Given the description of an element on the screen output the (x, y) to click on. 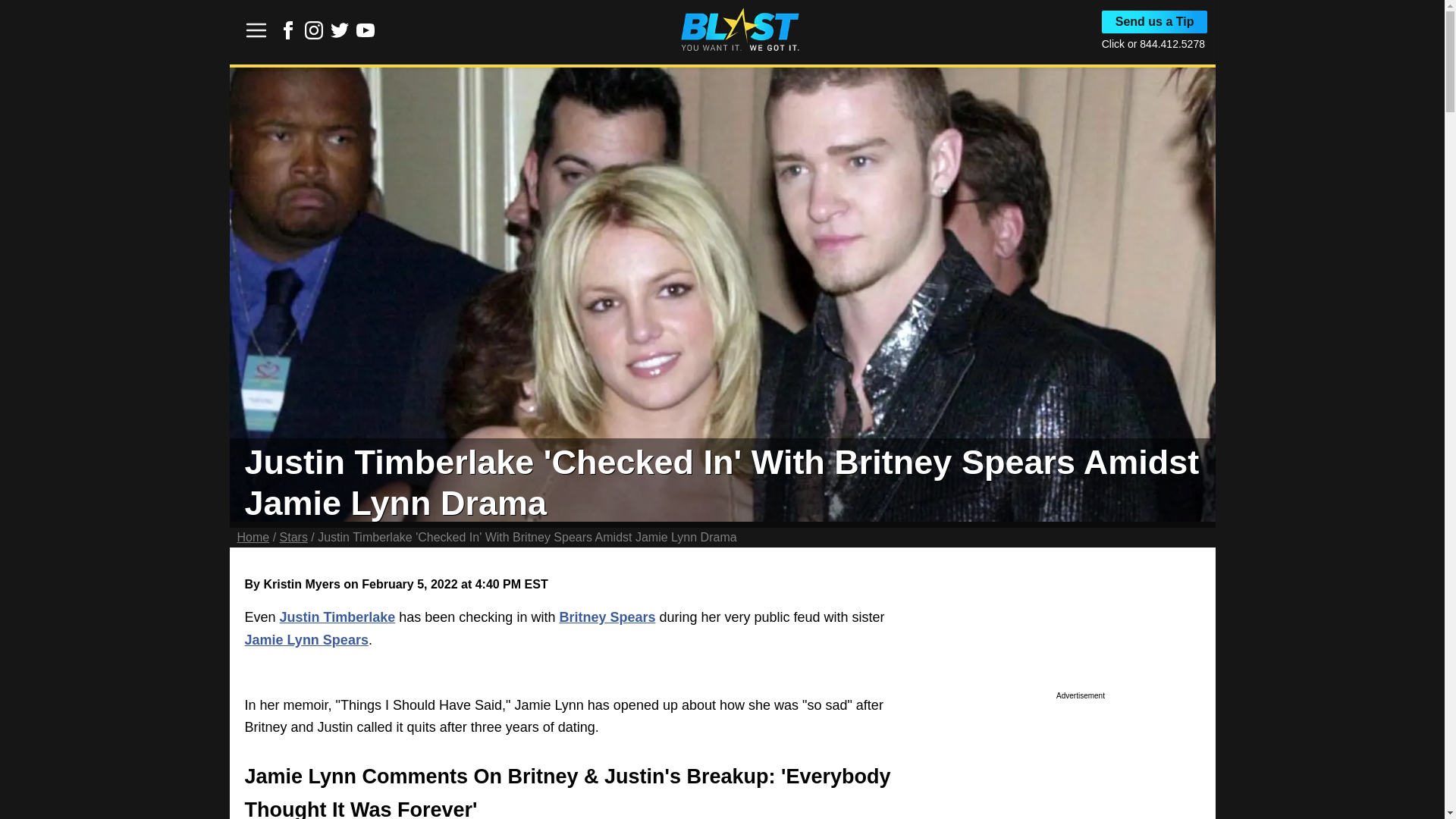
Kristin Myers (301, 584)
Link to Youtube (365, 30)
Justin Timberlake (337, 616)
Click or 844.412.5278 (1153, 43)
Link to Facebook (288, 30)
Link to Twitter (339, 34)
Link to Instagram (313, 34)
Stars (293, 536)
Link to Instagram (313, 30)
Link to Youtube (365, 34)
Send us a Tip (1155, 21)
Jamie Lynn Spears (306, 639)
Britney Spears (607, 616)
Link to Facebook (288, 34)
Link to Twitter (339, 30)
